Given the description of an element on the screen output the (x, y) to click on. 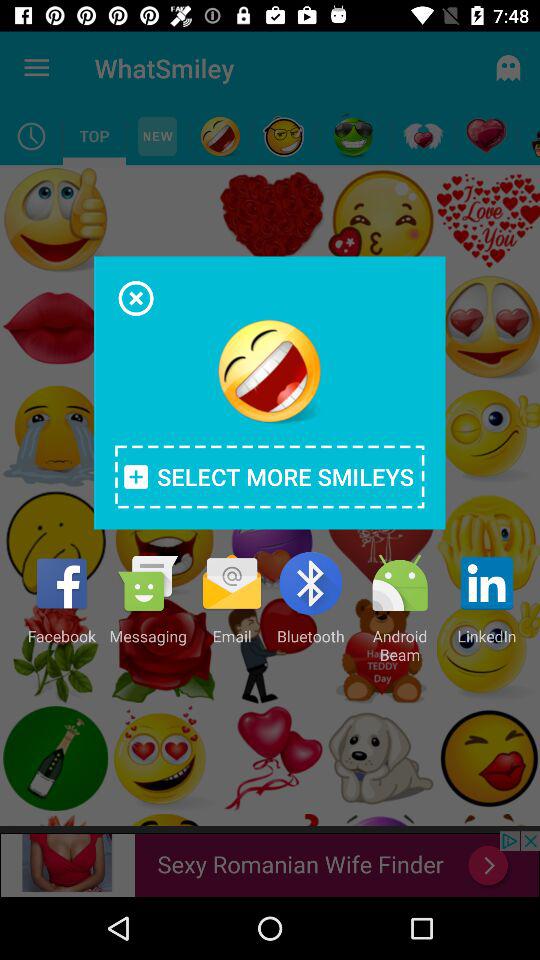
exit popup (136, 298)
